Given the description of an element on the screen output the (x, y) to click on. 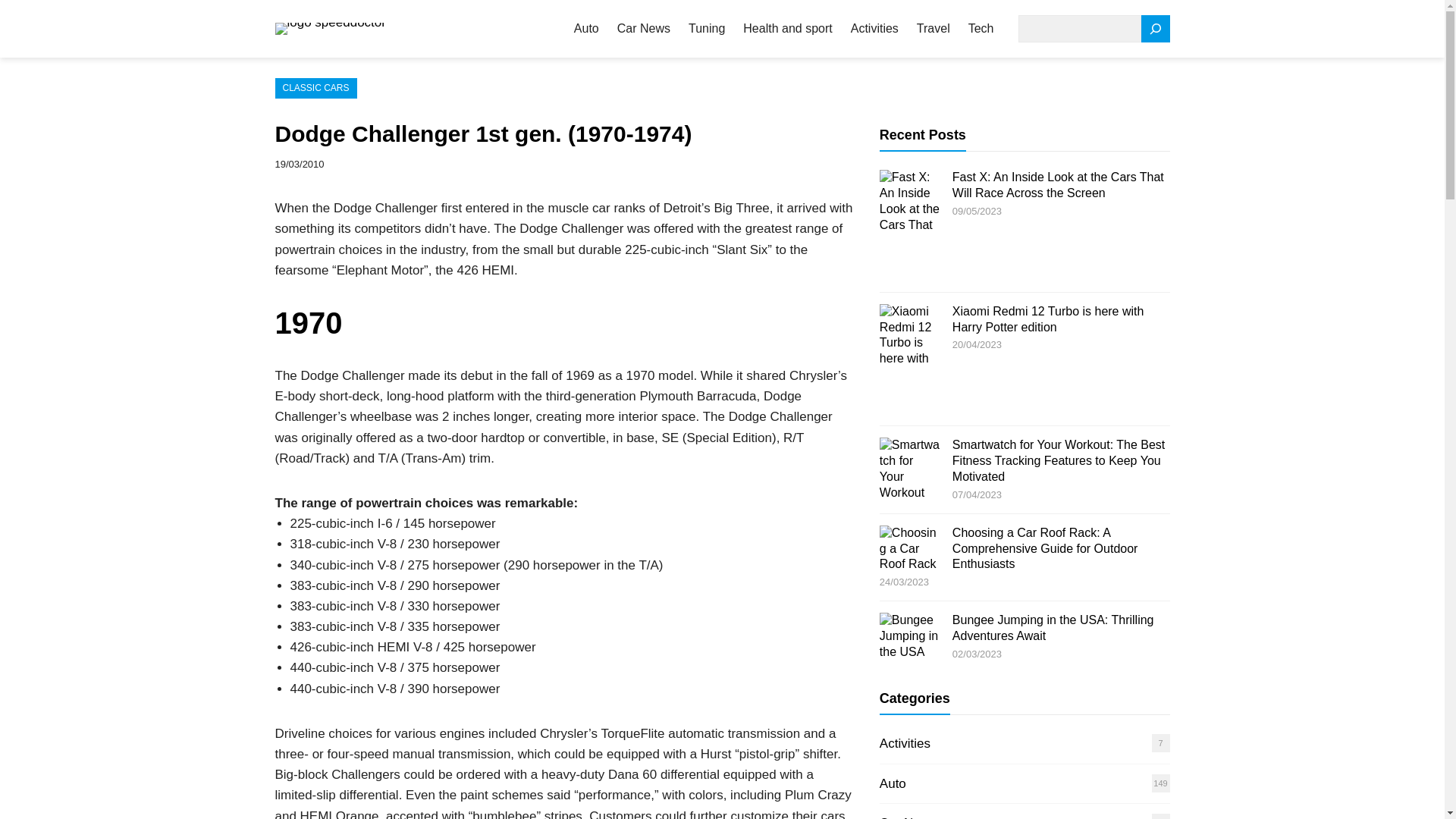
Auto (892, 783)
Xiaomi Redmi 12 Turbo is here with Harry Potter edition (1048, 318)
Car News (643, 28)
Activities (874, 28)
Tuning (706, 28)
Activities (904, 743)
Bungee Jumping in the USA: Thrilling Adventures Await (1053, 627)
Car News (907, 817)
Health and sport (786, 28)
CLASSIC CARS (315, 87)
Travel (933, 28)
